Given the description of an element on the screen output the (x, y) to click on. 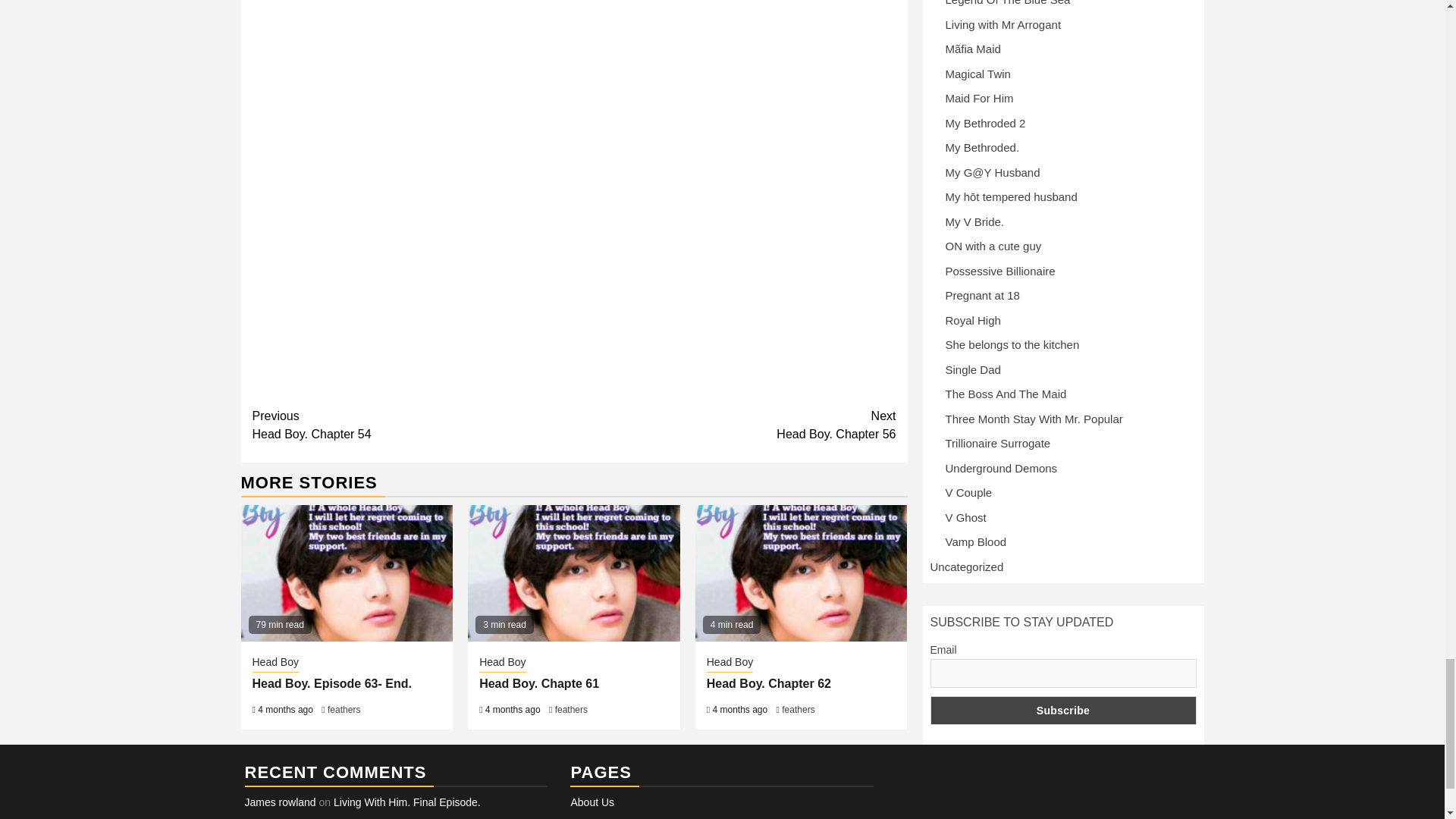
Head Boy (729, 663)
feathers (571, 709)
feathers (343, 709)
Head Boy (734, 425)
Head Boy. Episode 63- End. (502, 663)
Head Boy (330, 683)
Head Boy. Chapter 62 (274, 663)
feathers (768, 683)
Head Boy. Chapte 61 (797, 709)
